Given the description of an element on the screen output the (x, y) to click on. 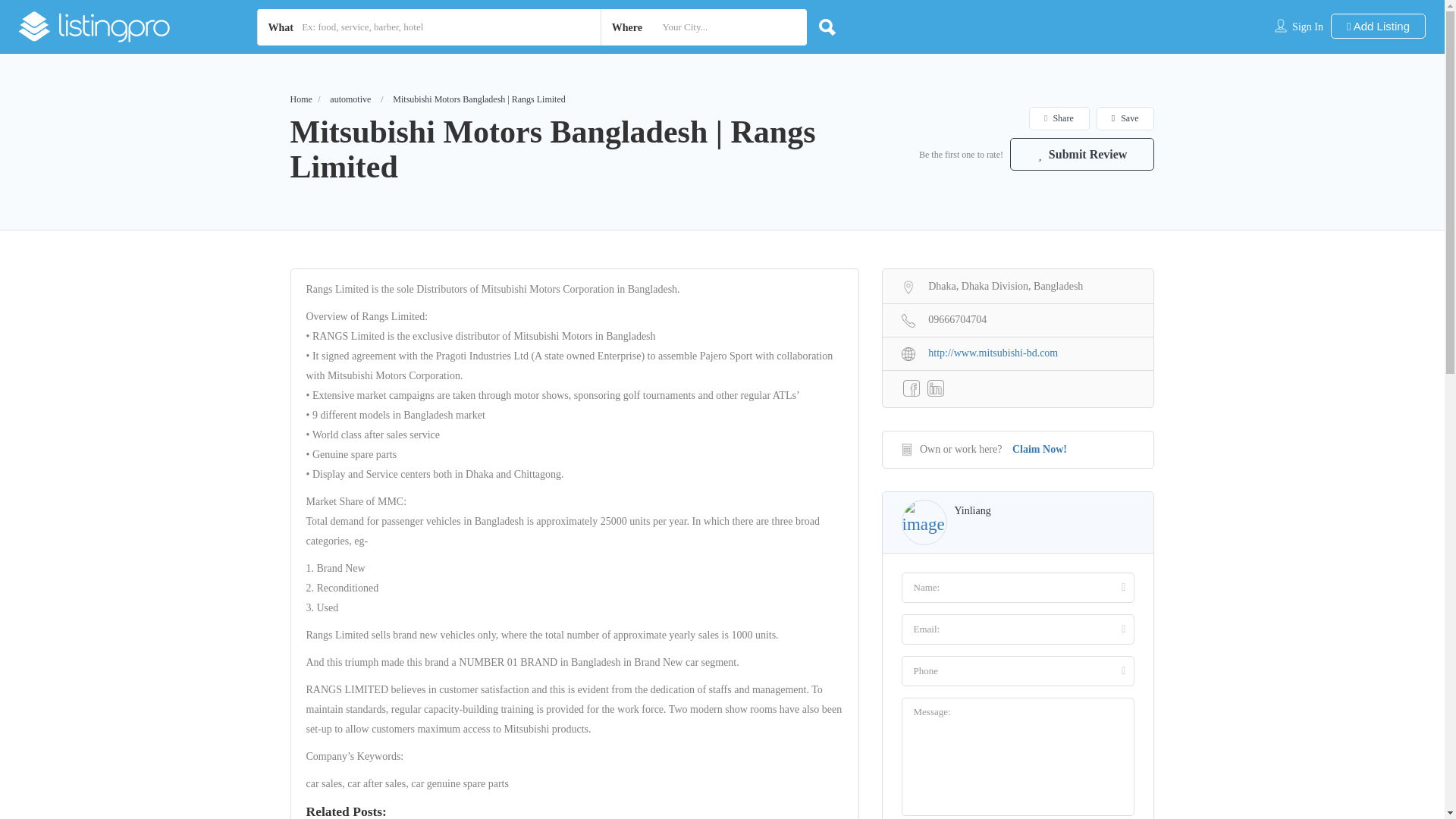
Submit Review (1082, 154)
Submit (413, 502)
Share (1058, 118)
Save (1125, 118)
automotive (350, 99)
Add Listing (1377, 25)
Home (300, 99)
Sign In (1307, 26)
